Given the description of an element on the screen output the (x, y) to click on. 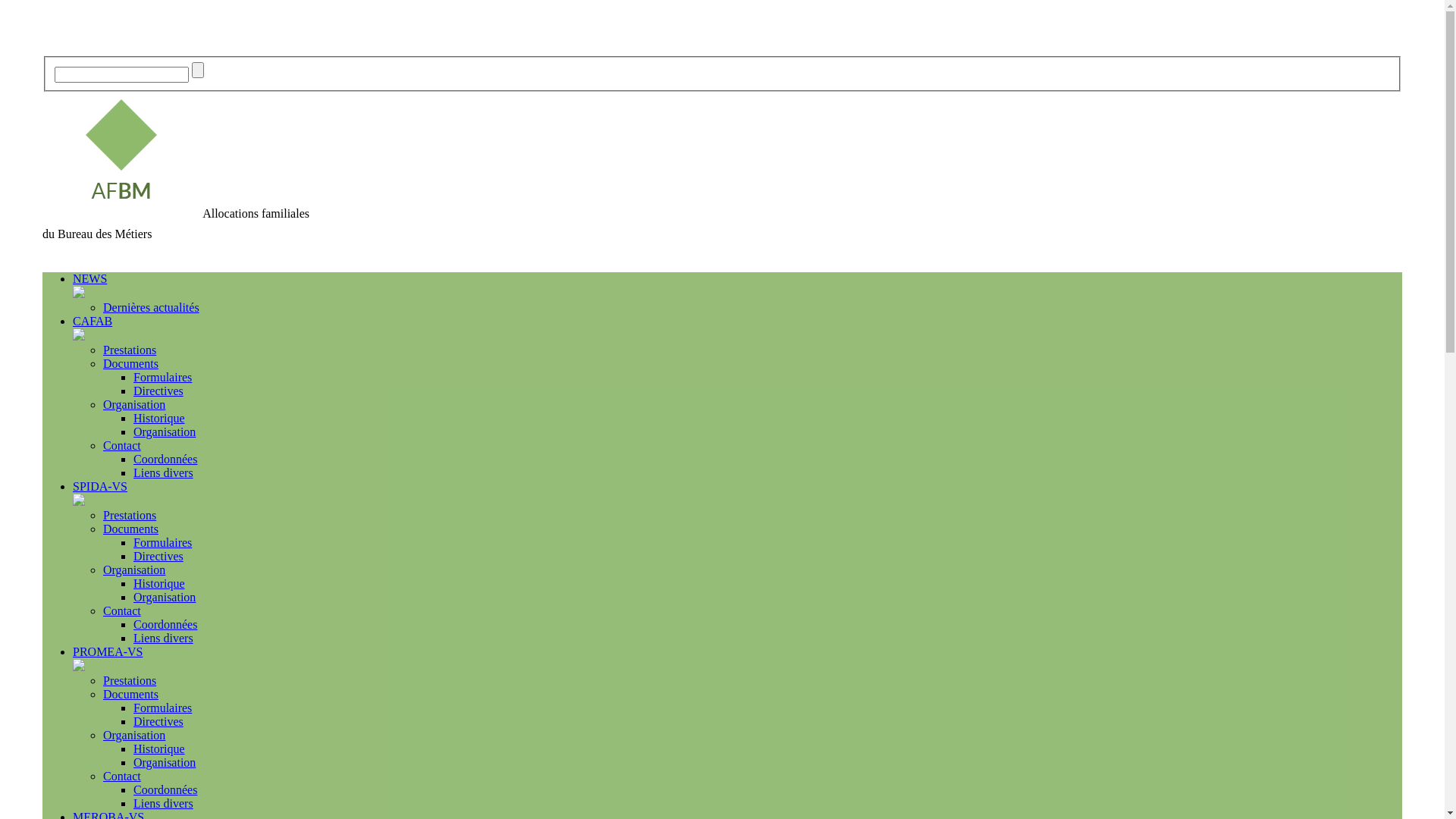
Prestations Element type: text (129, 349)
CAFAB Element type: text (92, 320)
Historique Element type: text (159, 583)
Contact Element type: text (122, 775)
Organisation Element type: text (134, 404)
DE Element type: text (74, 49)
Historique Element type: text (159, 748)
Organisation Element type: text (134, 734)
Organisation Element type: text (164, 596)
Directives Element type: text (158, 555)
Formulaires Element type: text (162, 542)
Liens divers Element type: text (163, 637)
Documents Element type: text (130, 528)
Contact Element type: text (122, 445)
Directives Element type: text (158, 390)
Prestations Element type: text (129, 680)
Liens divers Element type: text (163, 803)
Formulaires Element type: text (162, 376)
Organisation Element type: text (164, 431)
Prestations Element type: text (129, 514)
NEWS Element type: text (89, 278)
Documents Element type: text (130, 693)
Historique Element type: text (159, 417)
Organisation Element type: text (134, 569)
SPIDA-VS Element type: text (99, 486)
FR Element type: text (49, 49)
Liens divers Element type: text (163, 472)
Organisation Element type: text (164, 762)
Contact Element type: text (122, 610)
Directives Element type: text (158, 721)
PROMEA-VS Element type: text (107, 651)
Documents Element type: text (130, 363)
Formulaires Element type: text (162, 707)
